Given the description of an element on the screen output the (x, y) to click on. 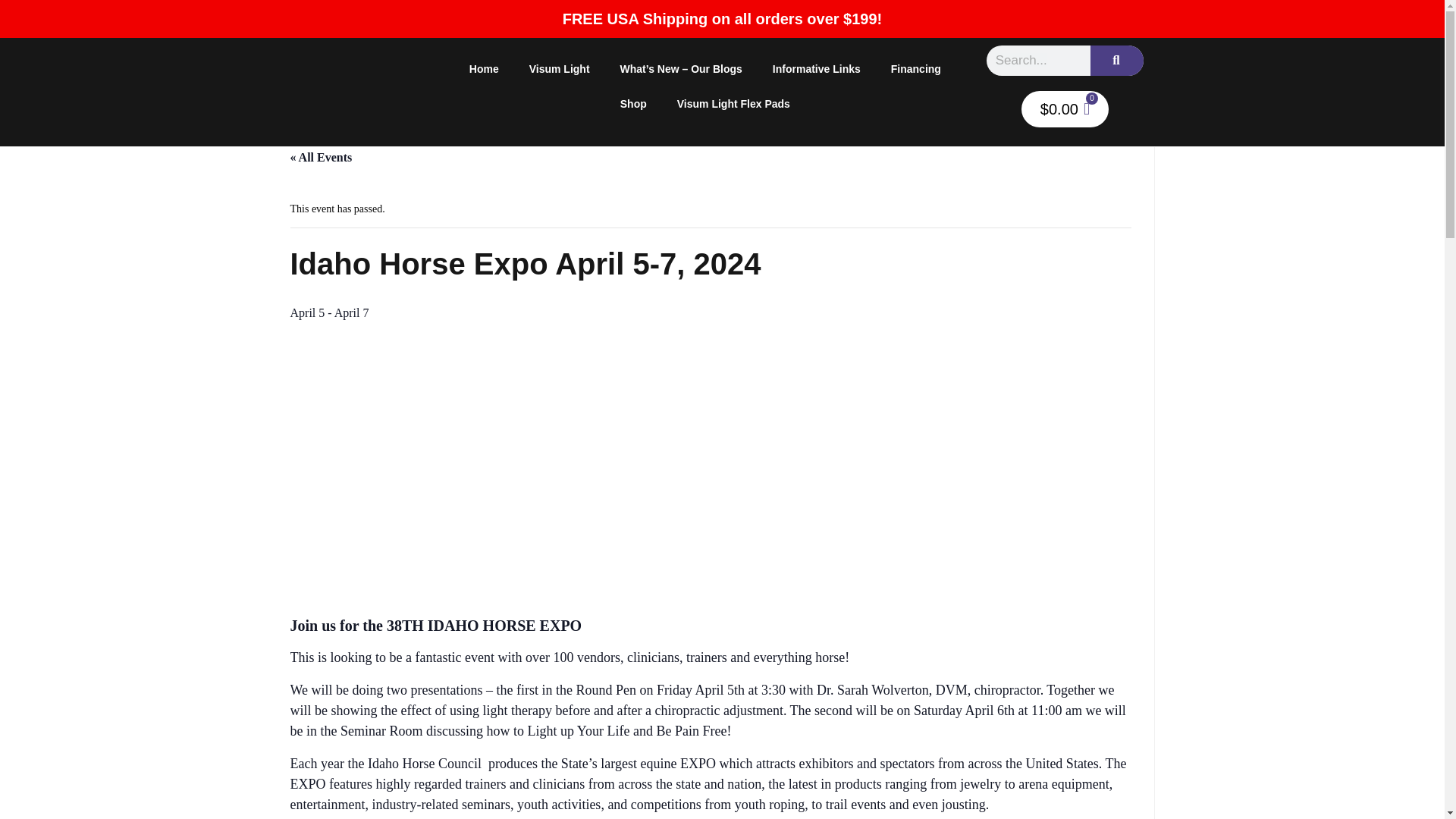
Informative Links (816, 68)
Shop (633, 103)
Financing (916, 68)
Visum Light Flex Pads (733, 103)
Home (483, 68)
Visum Light (559, 68)
